Given the description of an element on the screen output the (x, y) to click on. 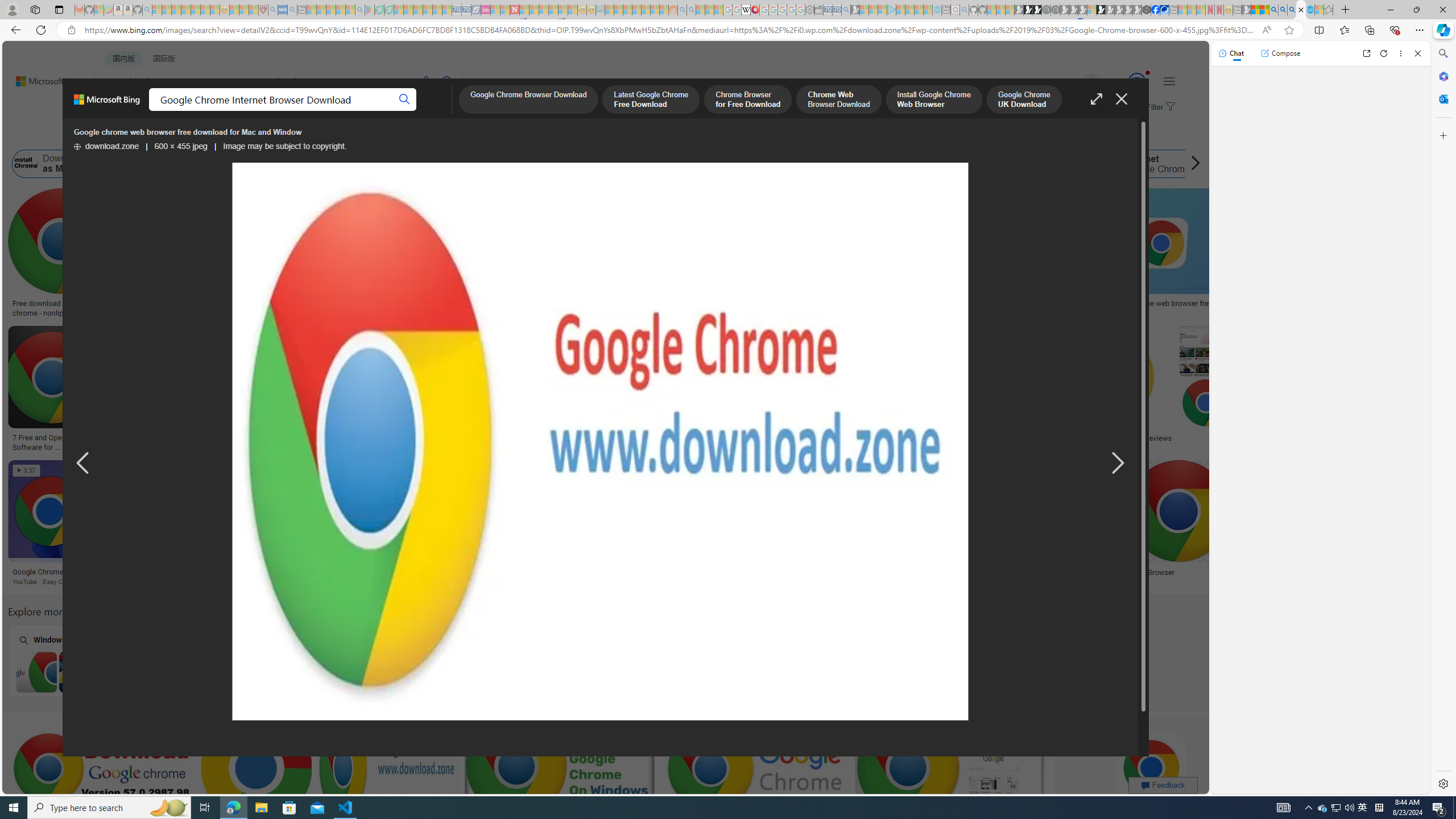
Previous image result (82, 463)
Google Chrome Search Browser (523, 163)
Layout (253, 135)
MY BING (156, 111)
Image may be subject to copyright. (284, 146)
